Given the description of an element on the screen output the (x, y) to click on. 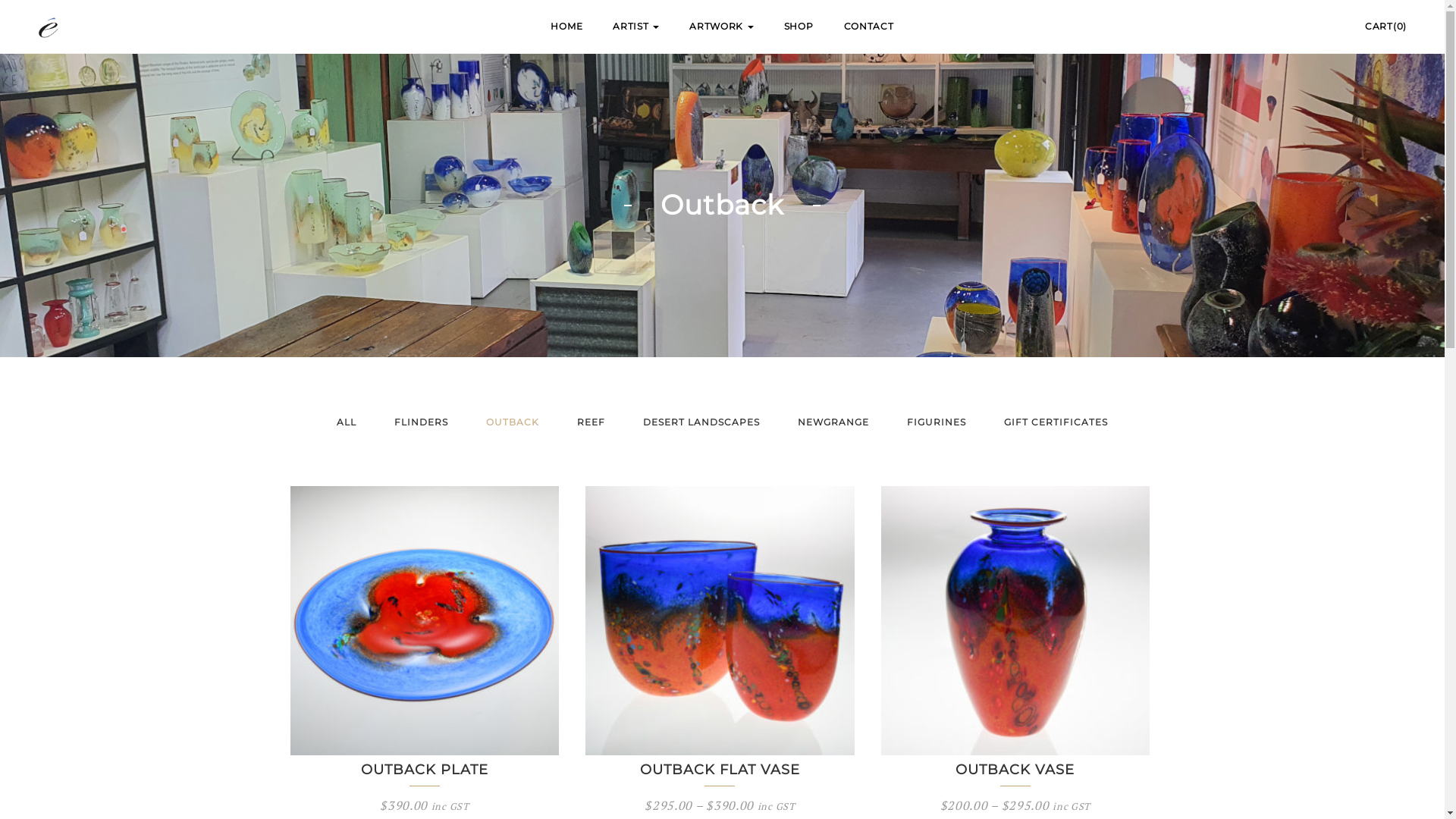
FLINDERS Element type: text (421, 421)
DESERT LANDSCAPES Element type: text (701, 421)
OUTBACK Element type: text (512, 421)
FIGURINES Element type: text (936, 421)
SHOP Element type: text (798, 26)
HOME Element type: text (566, 26)
ALL Element type: text (346, 421)
CONTACT Element type: text (868, 26)
CART(0) Element type: text (1385, 25)
OUTBACK PLATE
$390.00 inc GST Element type: text (423, 647)
ARTIST Element type: text (635, 26)
ARTWORK Element type: text (721, 26)
NEWGRANGE Element type: text (833, 421)
GIFT CERTIFICATES Element type: text (1055, 421)
REEF Element type: text (591, 421)
